Given the description of an element on the screen output the (x, y) to click on. 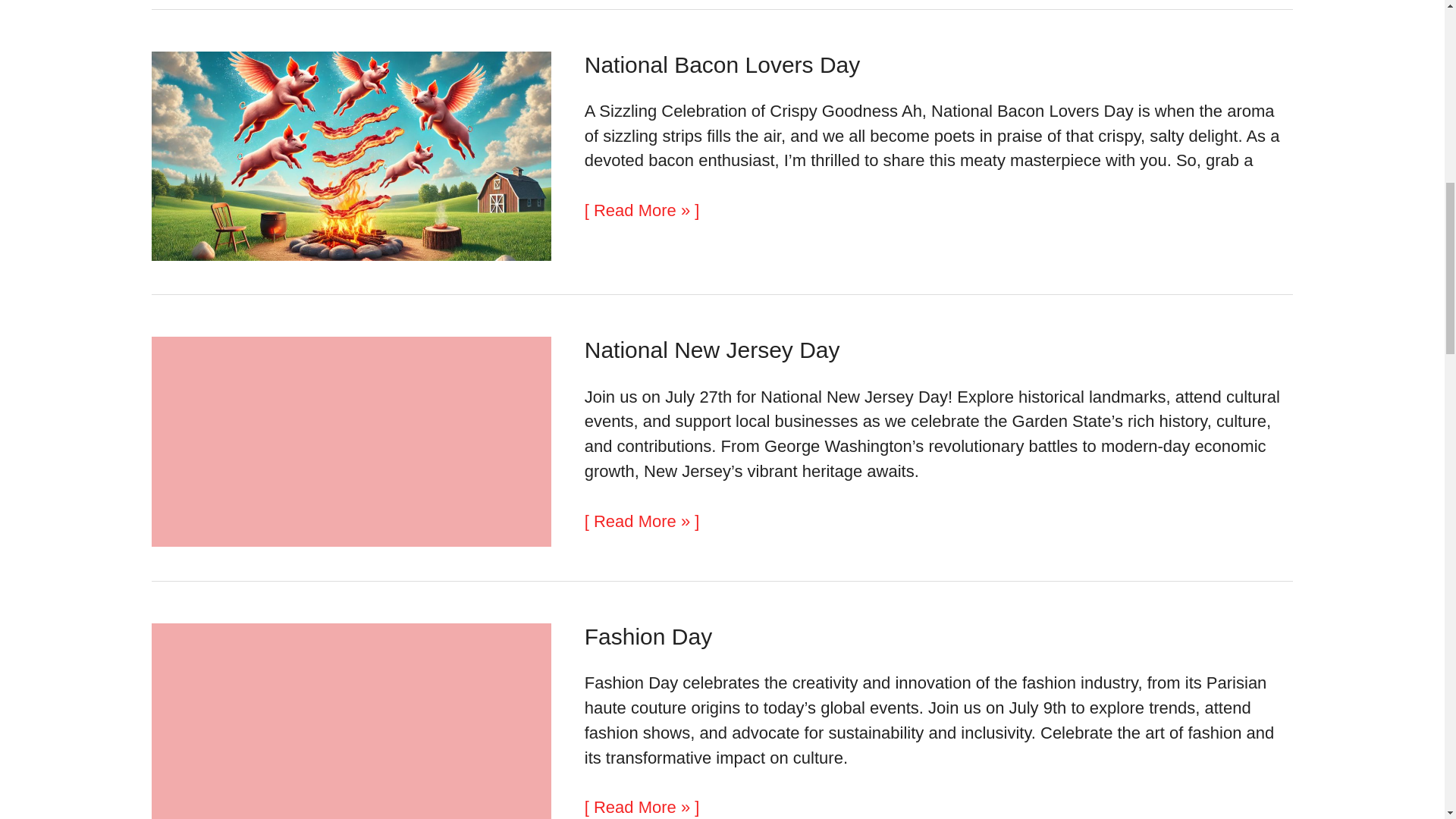
National Bacon Lovers Day (722, 64)
